Given the description of an element on the screen output the (x, y) to click on. 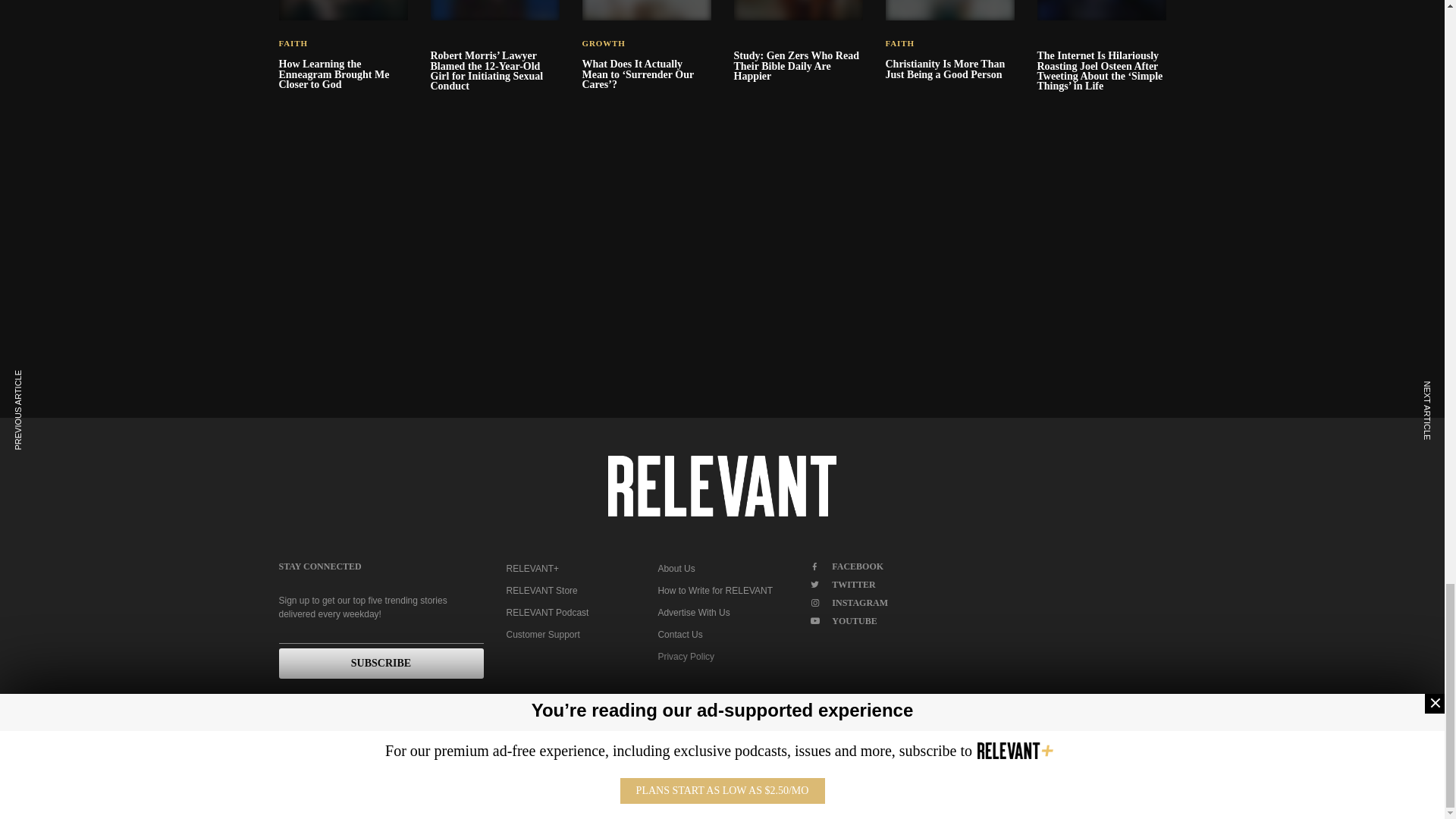
Subscribe (381, 663)
